Given the description of an element on the screen output the (x, y) to click on. 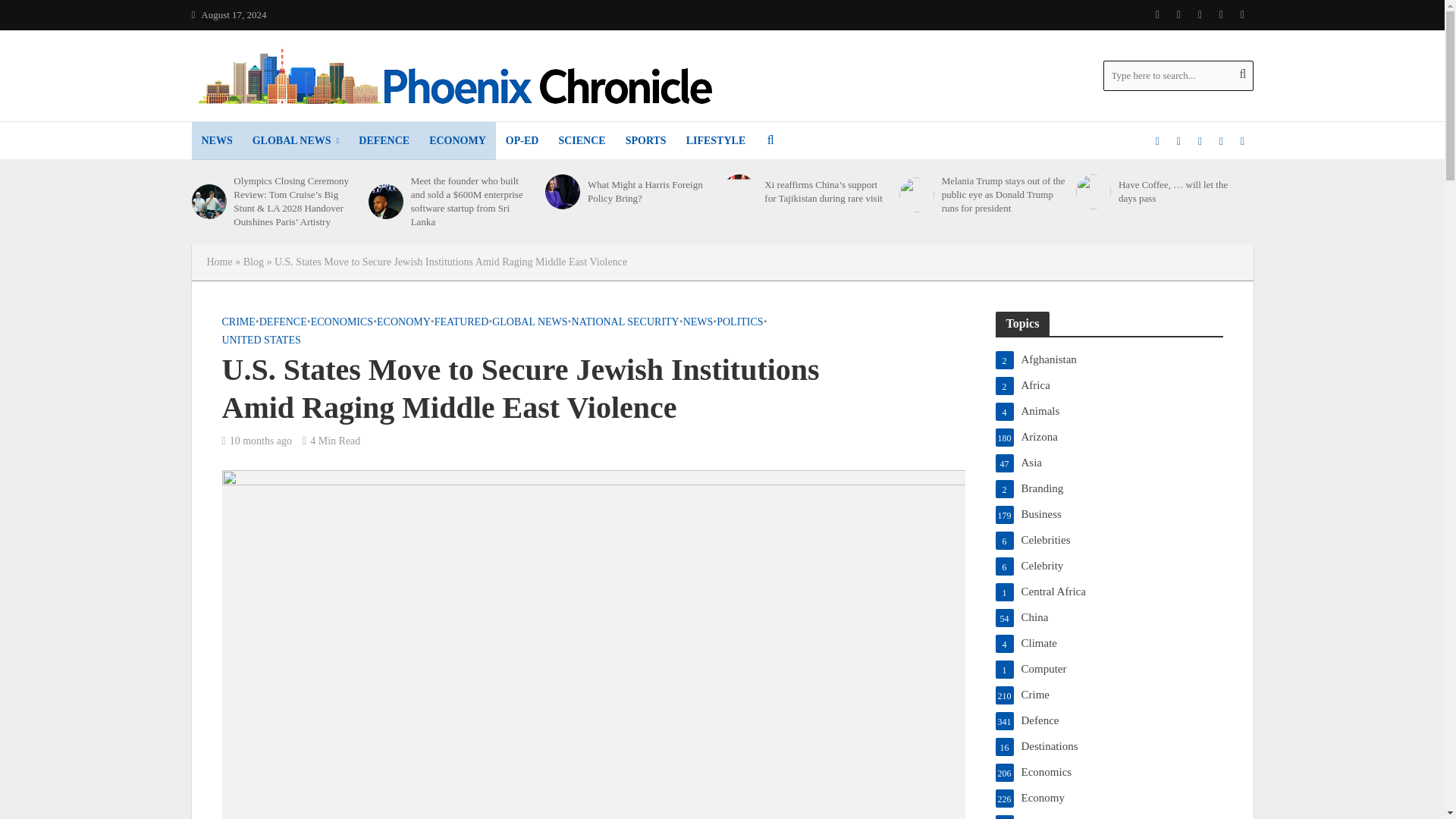
GLOBAL NEWS (296, 140)
What Might a Harris Foreign Policy Bring? (561, 191)
NEWS (215, 140)
